Given the description of an element on the screen output the (x, y) to click on. 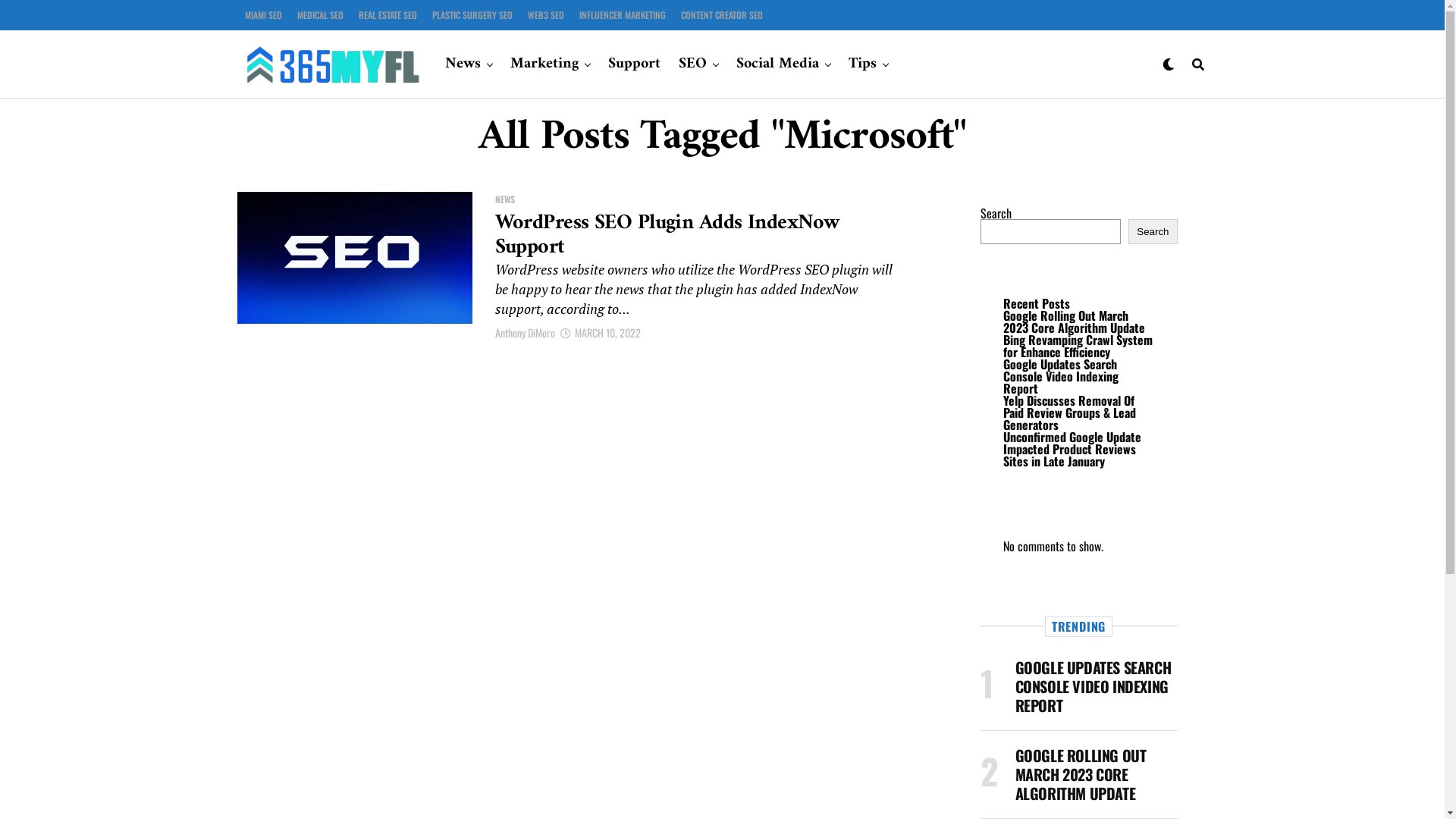
GOOGLE UPDATES SEARCH CONSOLE VIDEO INDEXING REPORT Element type: text (1092, 687)
REAL ESTATE SEO Element type: text (386, 15)
Search Element type: text (1152, 231)
Bing Revamping Crawl System for Enhance Efficiency Element type: text (1076, 345)
News Element type: text (466, 64)
Tips Element type: text (862, 64)
Support Element type: text (634, 64)
GOOGLE ROLLING OUT MARCH 2023 CORE ALGORITHM UPDATE Element type: text (1079, 775)
WEB3 SEO Element type: text (545, 15)
PLASTIC SURGERY SEO Element type: text (472, 15)
Anthony DiMoro Element type: text (524, 332)
Social Media Element type: text (777, 64)
Marketing Element type: text (544, 64)
CONTENT CREATOR SEO Element type: text (721, 15)
MIAMI SEO Element type: text (262, 15)
MEDICAL SEO Element type: text (320, 15)
WordPress SEO Plugin Adds IndexNow Support Element type: text (666, 234)
INFLUENCER MARKETING Element type: text (622, 15)
Google Updates Search Console Video Indexing Report Element type: text (1059, 375)
Google Rolling Out March 2023 Core Algorithm Update Element type: text (1073, 321)
SEO Element type: text (692, 64)
